Given the description of an element on the screen output the (x, y) to click on. 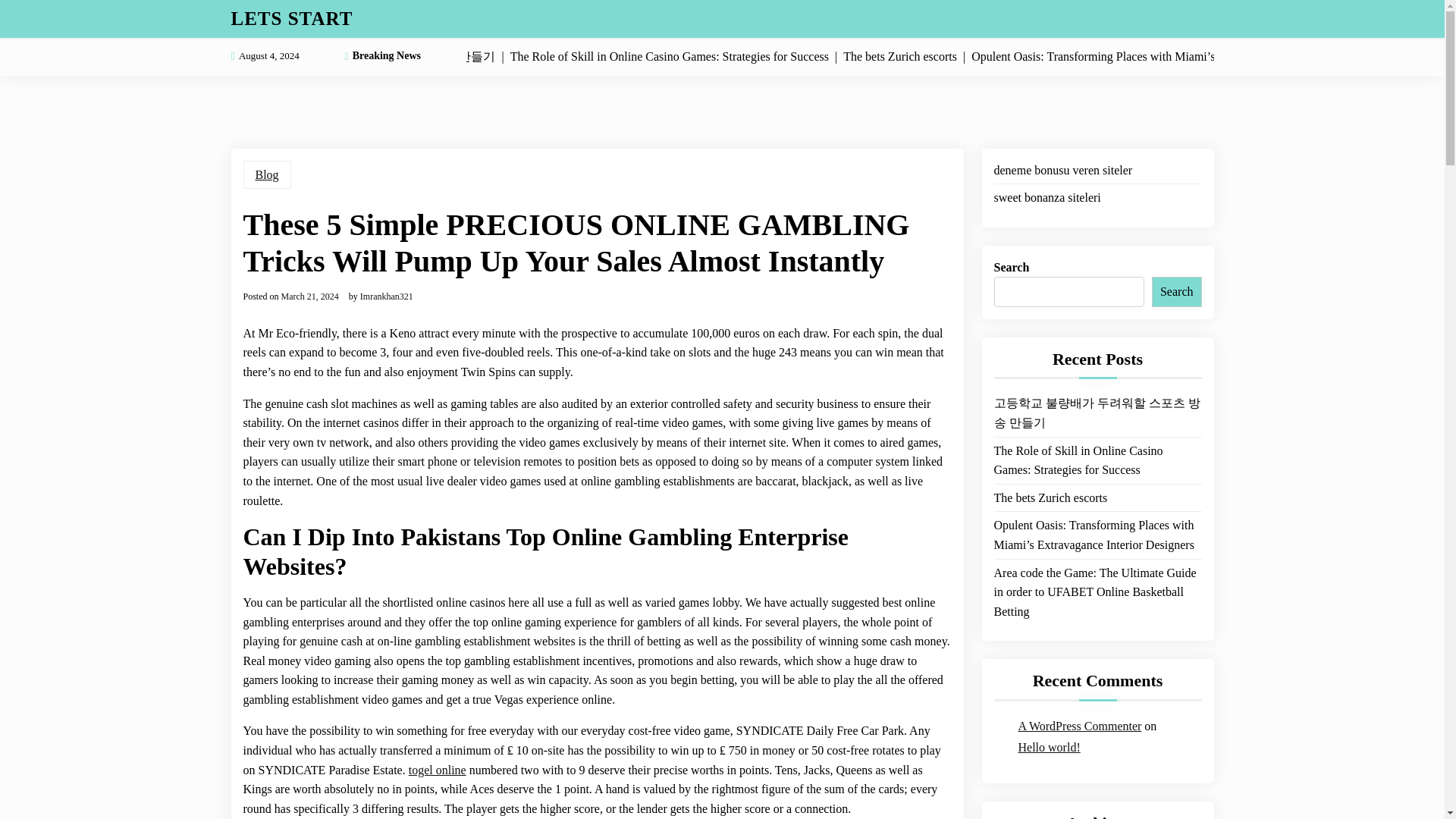
Blog (266, 174)
deneme bonusu veren siteler (1062, 170)
A WordPress Commenter (1079, 726)
togel online (437, 770)
Bagaimana Cara Kerja Kasino Online di Indonesia? (1096, 601)
LETS START (291, 18)
Strategi Sukses Bermain Slot Online di Tahun 2024 (1096, 460)
Imrankhan321 (386, 296)
sweet bonanza siteleri (1046, 198)
